Given the description of an element on the screen output the (x, y) to click on. 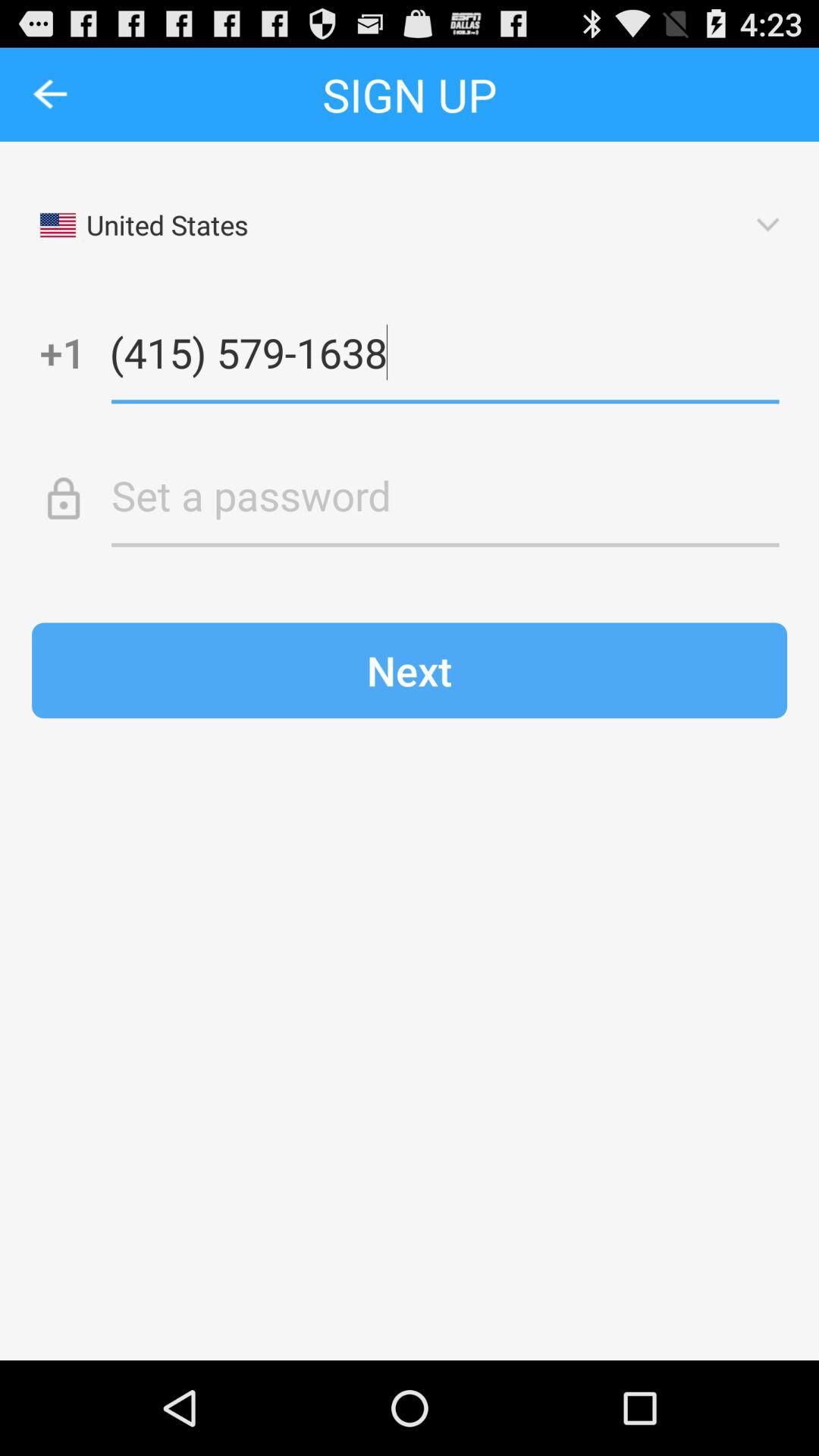
sets password (445, 495)
